Given the description of an element on the screen output the (x, y) to click on. 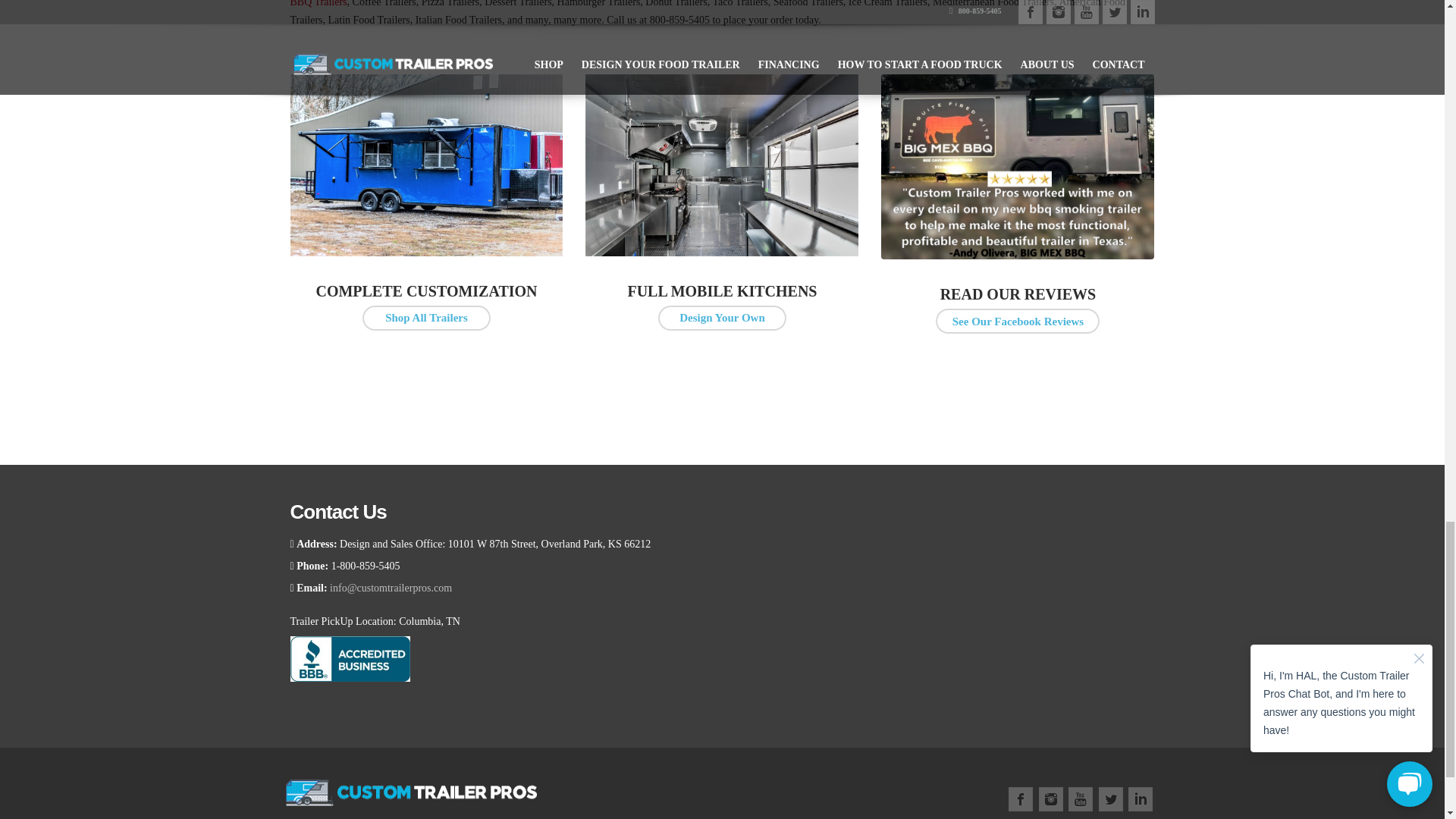
See Our Facebook Reviews (1017, 320)
4 (425, 165)
Design Your Own (722, 317)
17 (722, 165)
BBQ Trailers (317, 3)
Big Mex BBQ Review 2 (1017, 166)
Receive A Detailed Quote (722, 317)
Shop All Trailers (426, 317)
View All Trailers (426, 317)
